Given the description of an element on the screen output the (x, y) to click on. 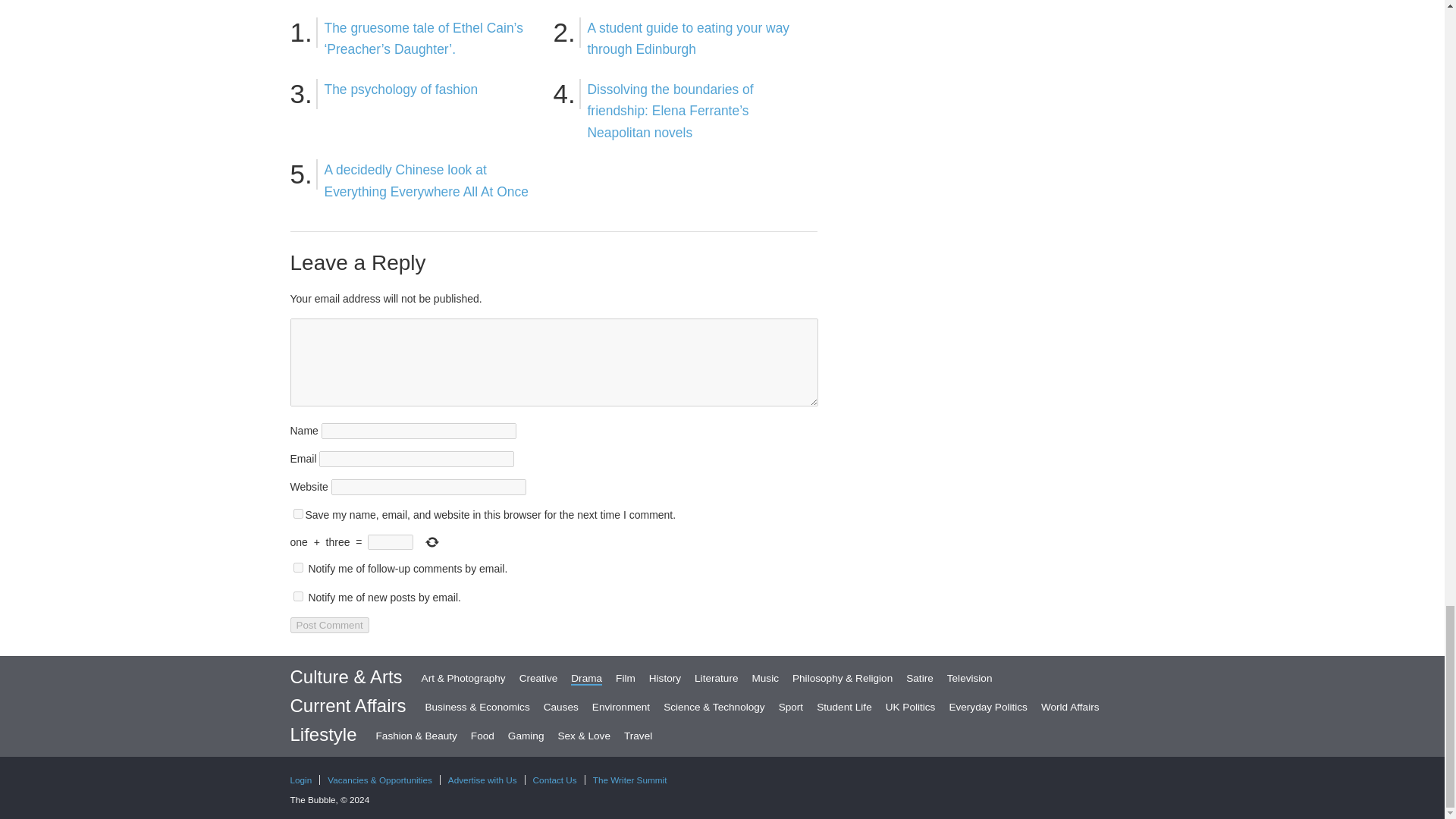
A student guide to eating your way through Edinburgh (687, 38)
yes (297, 513)
Post Comment (328, 625)
The psychology of fashion (401, 89)
subscribe (297, 567)
The psychology of fashion (401, 89)
subscribe (297, 596)
Post Comment (328, 625)
A student guide to eating your way through Edinburgh (687, 38)
